Given the description of an element on the screen output the (x, y) to click on. 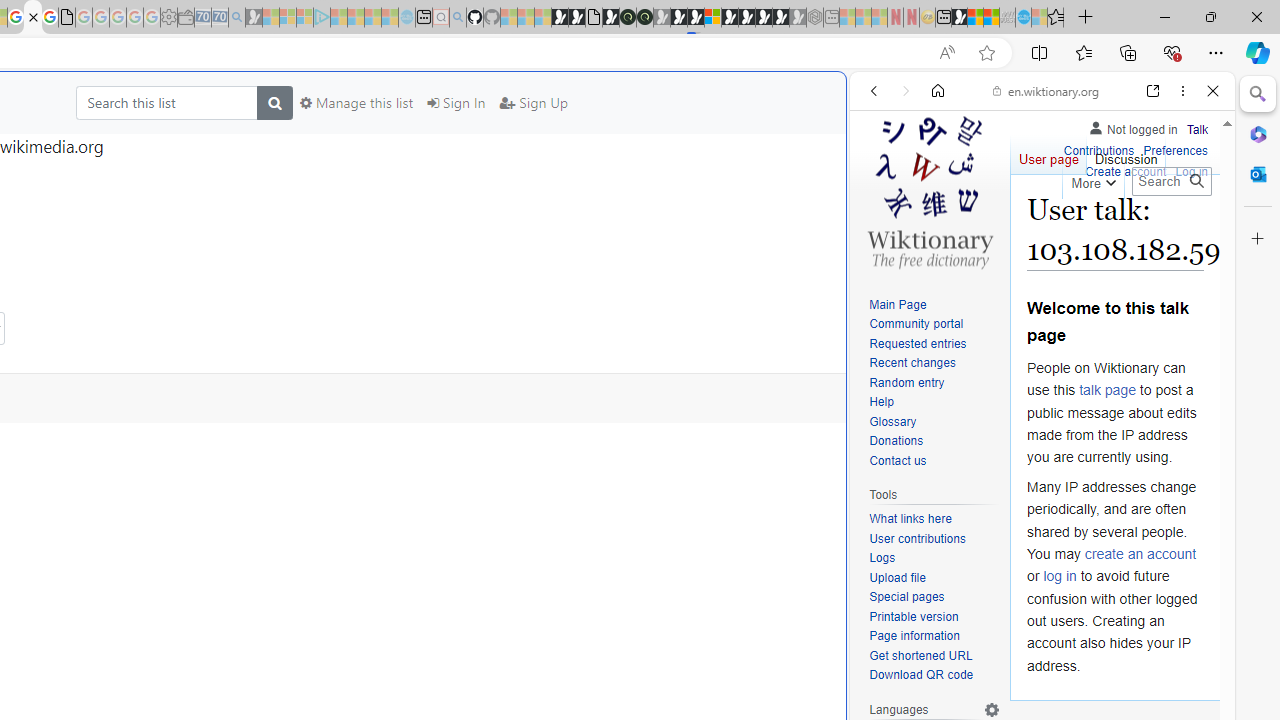
Special pages (906, 596)
Language settings (992, 709)
Main Page (897, 303)
